Given the description of an element on the screen output the (x, y) to click on. 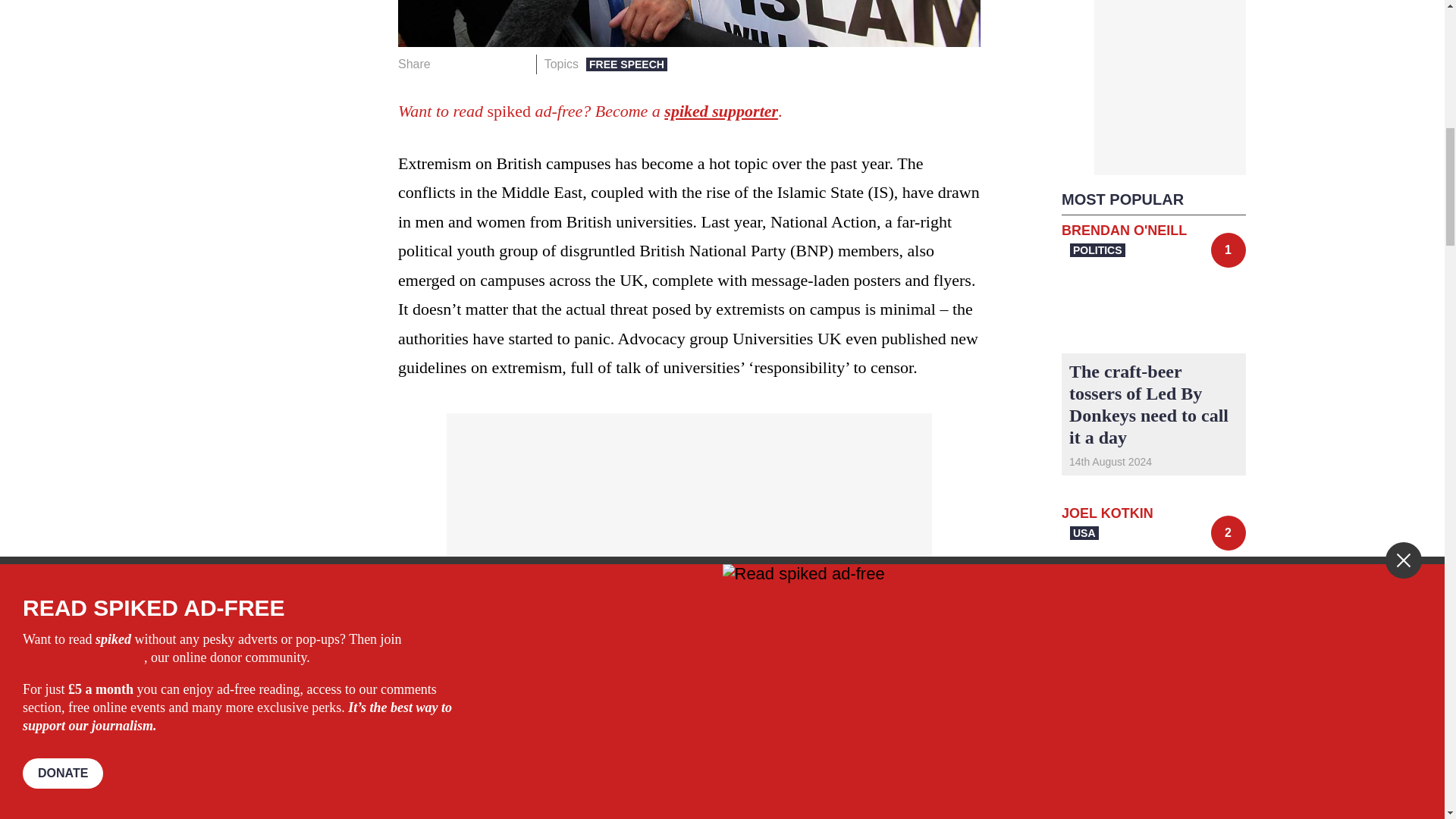
Share on Whatsapp (494, 64)
Share on Twitter (471, 64)
Share on Email (518, 64)
Share on Facebook (448, 64)
